Given the description of an element on the screen output the (x, y) to click on. 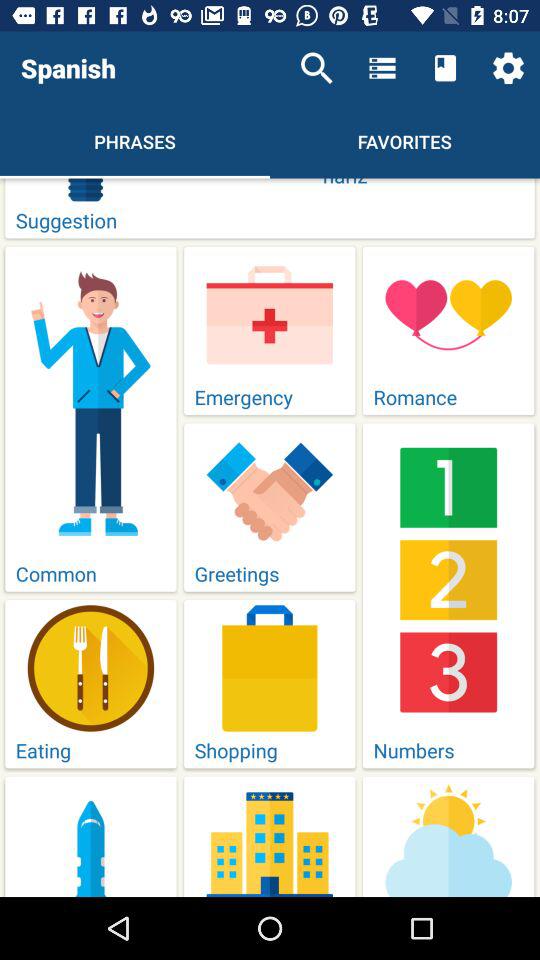
select the item above nariz (316, 67)
